Given the description of an element on the screen output the (x, y) to click on. 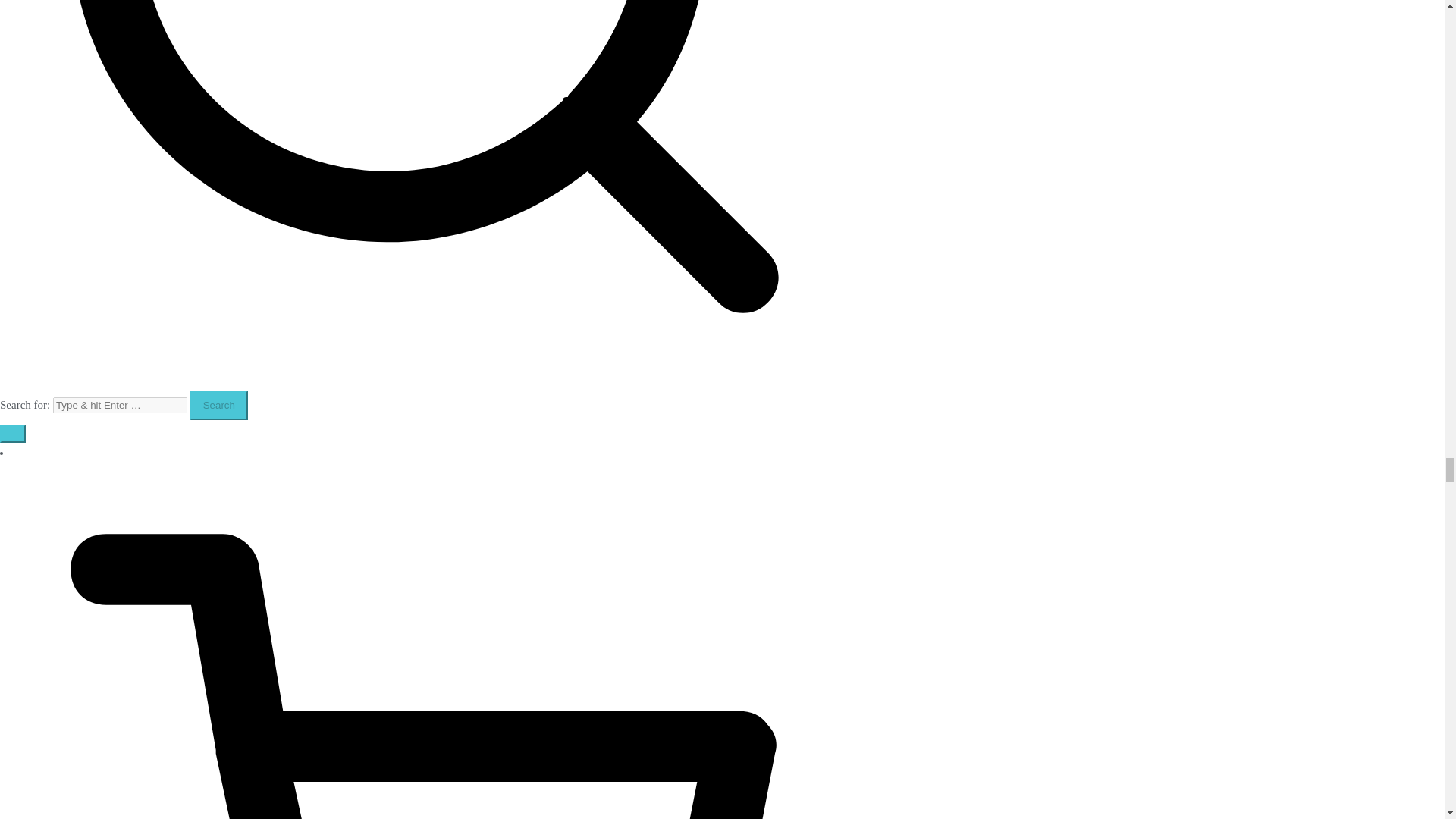
Search (218, 405)
Search (218, 405)
Search for: (119, 405)
